Given the description of an element on the screen output the (x, y) to click on. 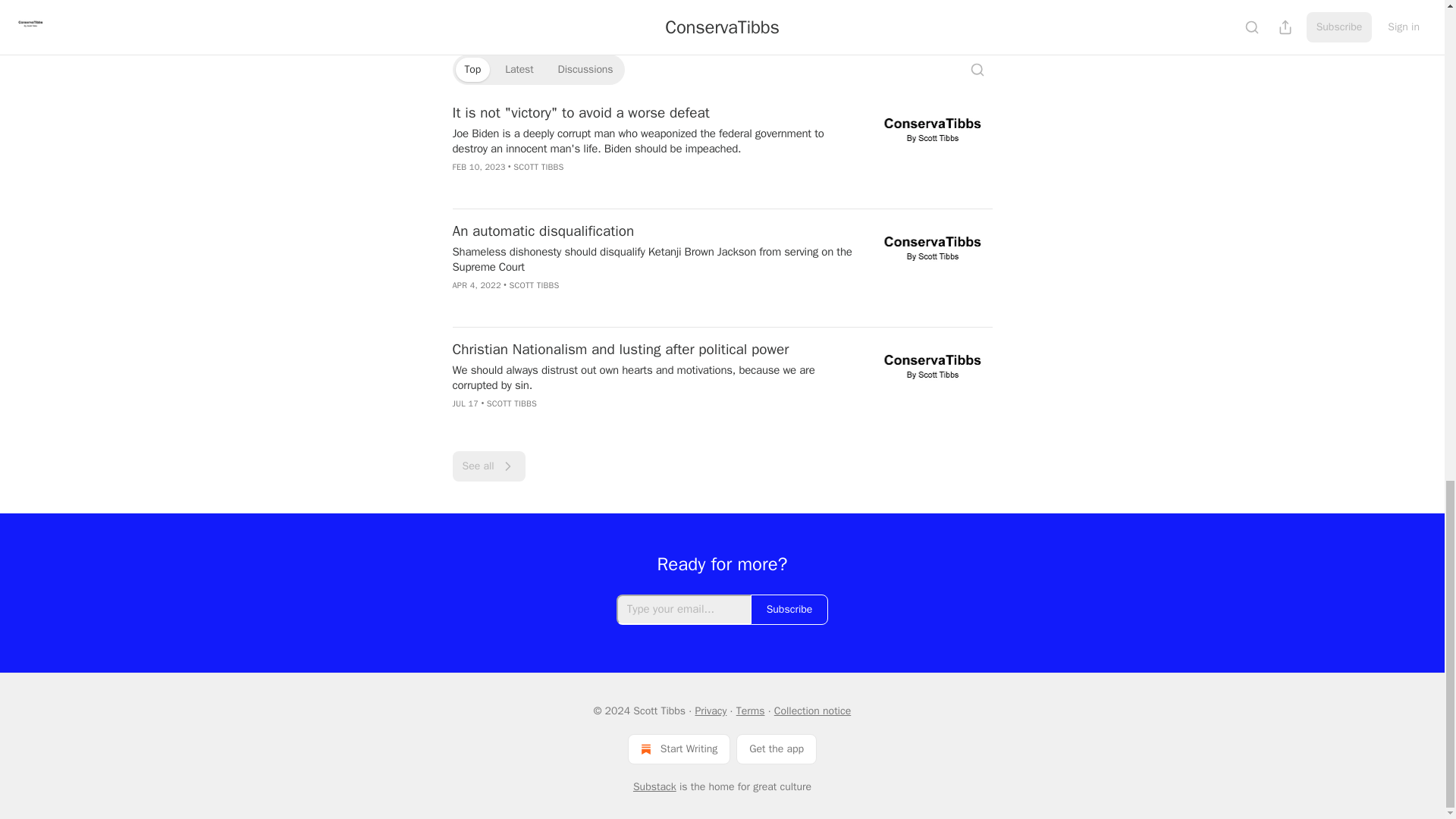
Latest (518, 69)
SCOTT TIBBS (538, 166)
It is not "victory" to avoid a worse defeat (651, 112)
Top (471, 69)
Discussions (585, 69)
